Given the description of an element on the screen output the (x, y) to click on. 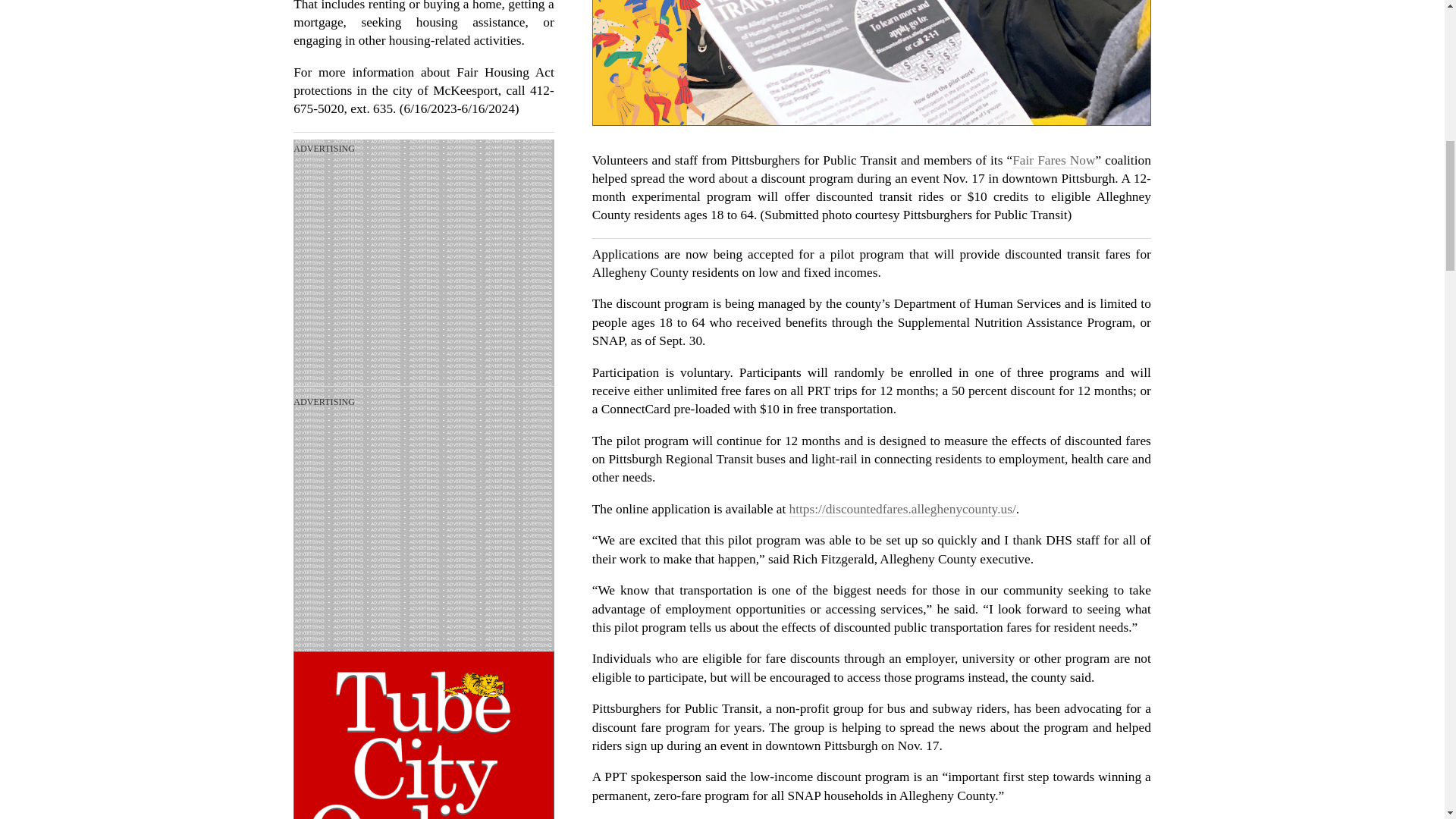
Advertisement (424, 273)
Advertisement (424, 526)
